Given the description of an element on the screen output the (x, y) to click on. 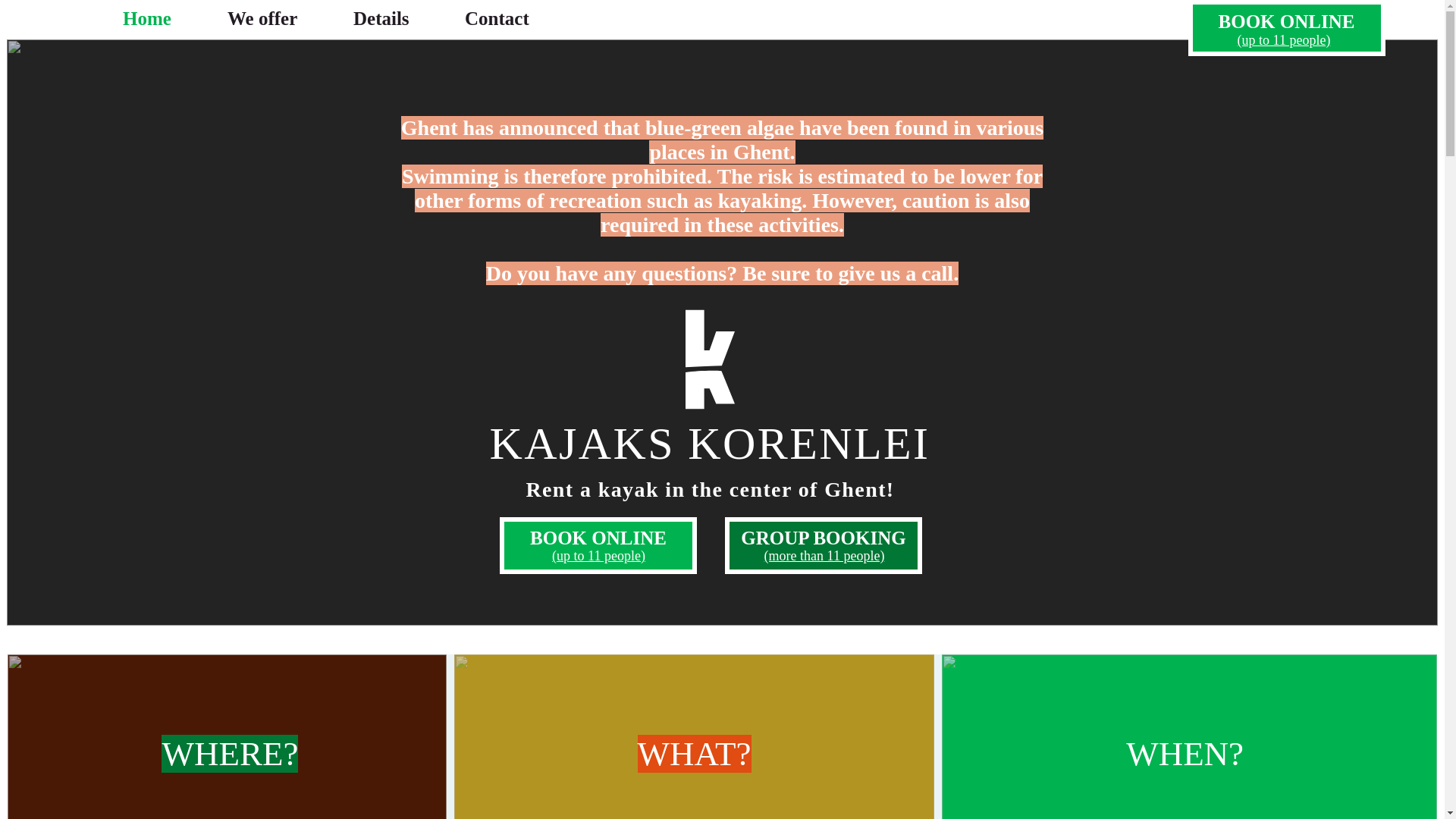
GROUP BOOKING (823, 537)
Rent a kayak in the center of Ghent! (709, 489)
BOOK ONLINE (598, 537)
We offer (278, 18)
BOOK ONLINE (1286, 21)
Contact (512, 18)
Home (163, 18)
Details (397, 18)
